Given the description of an element on the screen output the (x, y) to click on. 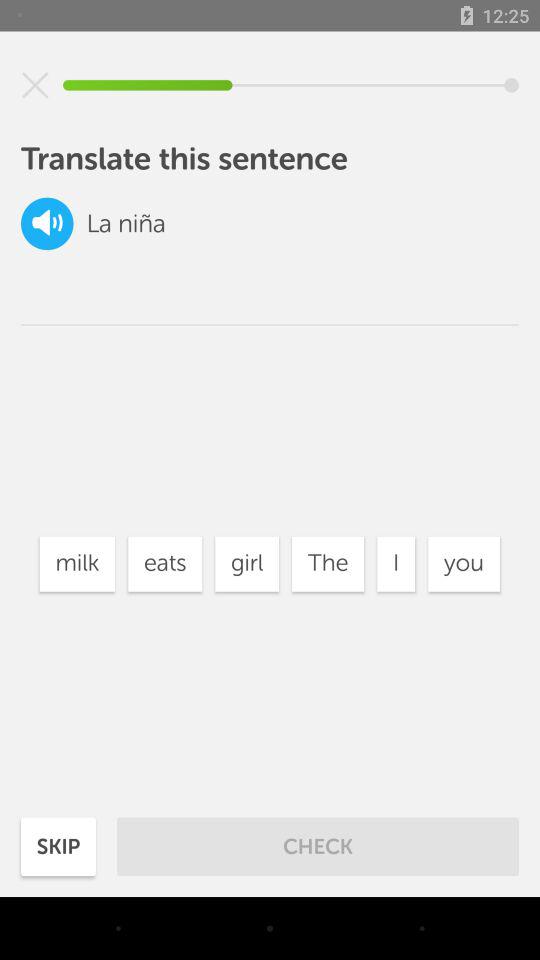
turn off the item to the left of i icon (328, 563)
